Given the description of an element on the screen output the (x, y) to click on. 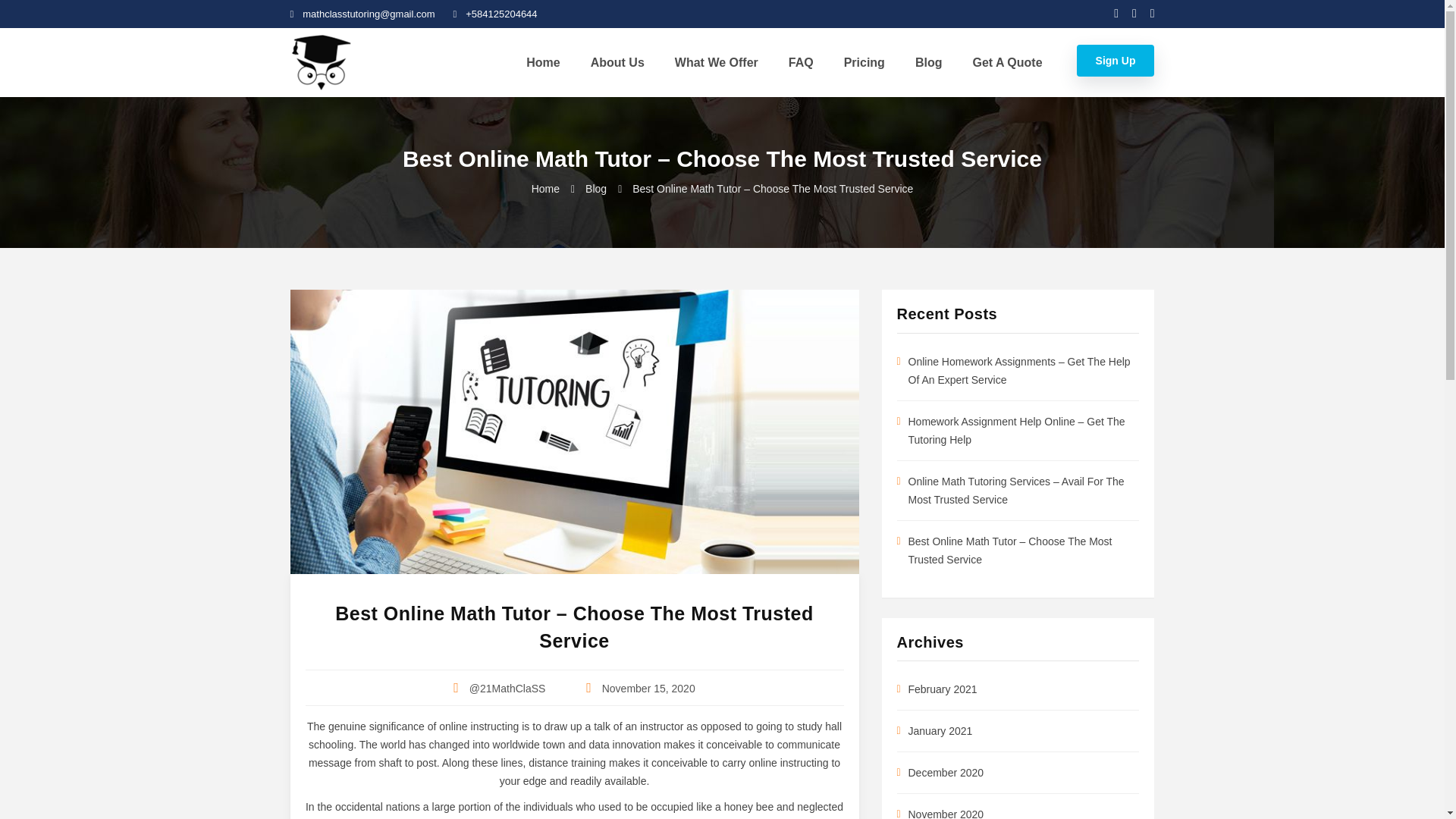
January 2021 (940, 730)
FAQ (800, 63)
Sign Up (1115, 60)
February 2021 (942, 689)
Get A Quote (1006, 63)
December 2020 (946, 772)
Blog (606, 188)
About Us (617, 63)
November 2020 (946, 813)
Pricing (863, 63)
